Given the description of an element on the screen output the (x, y) to click on. 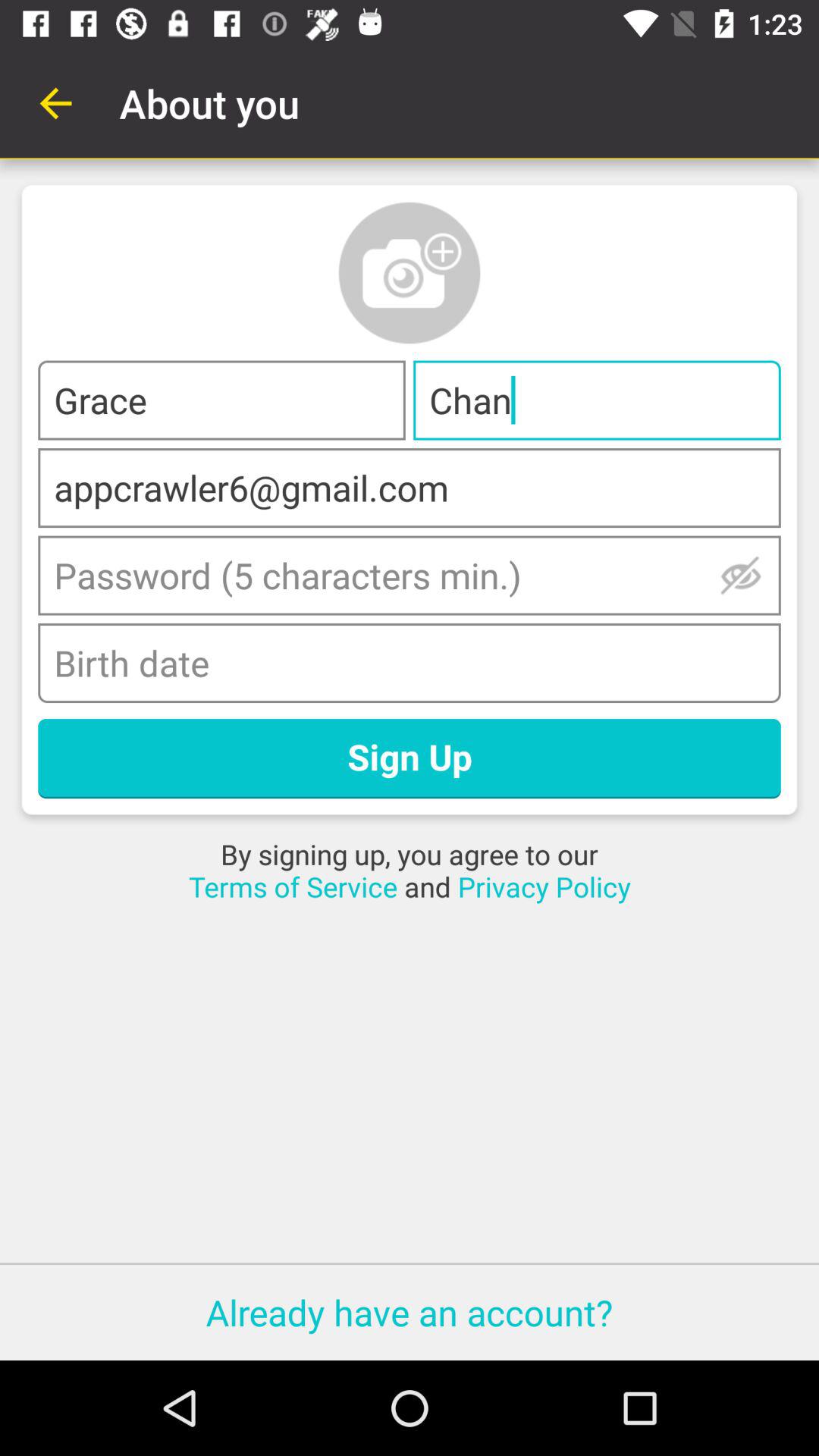
enter password field (409, 575)
